Given the description of an element on the screen output the (x, y) to click on. 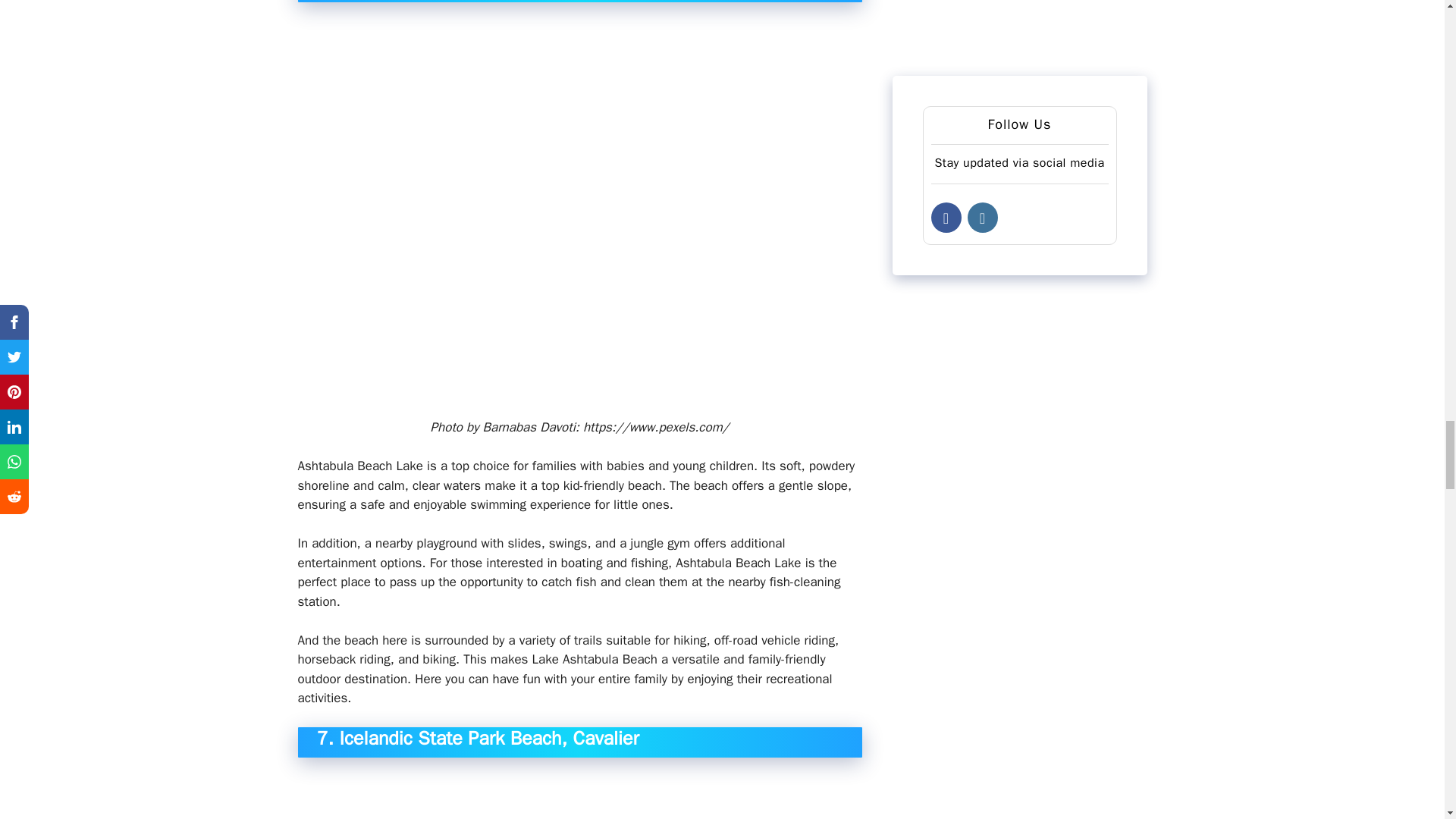
Best Family Beaches in North Dakota 8 (579, 796)
